Given the description of an element on the screen output the (x, y) to click on. 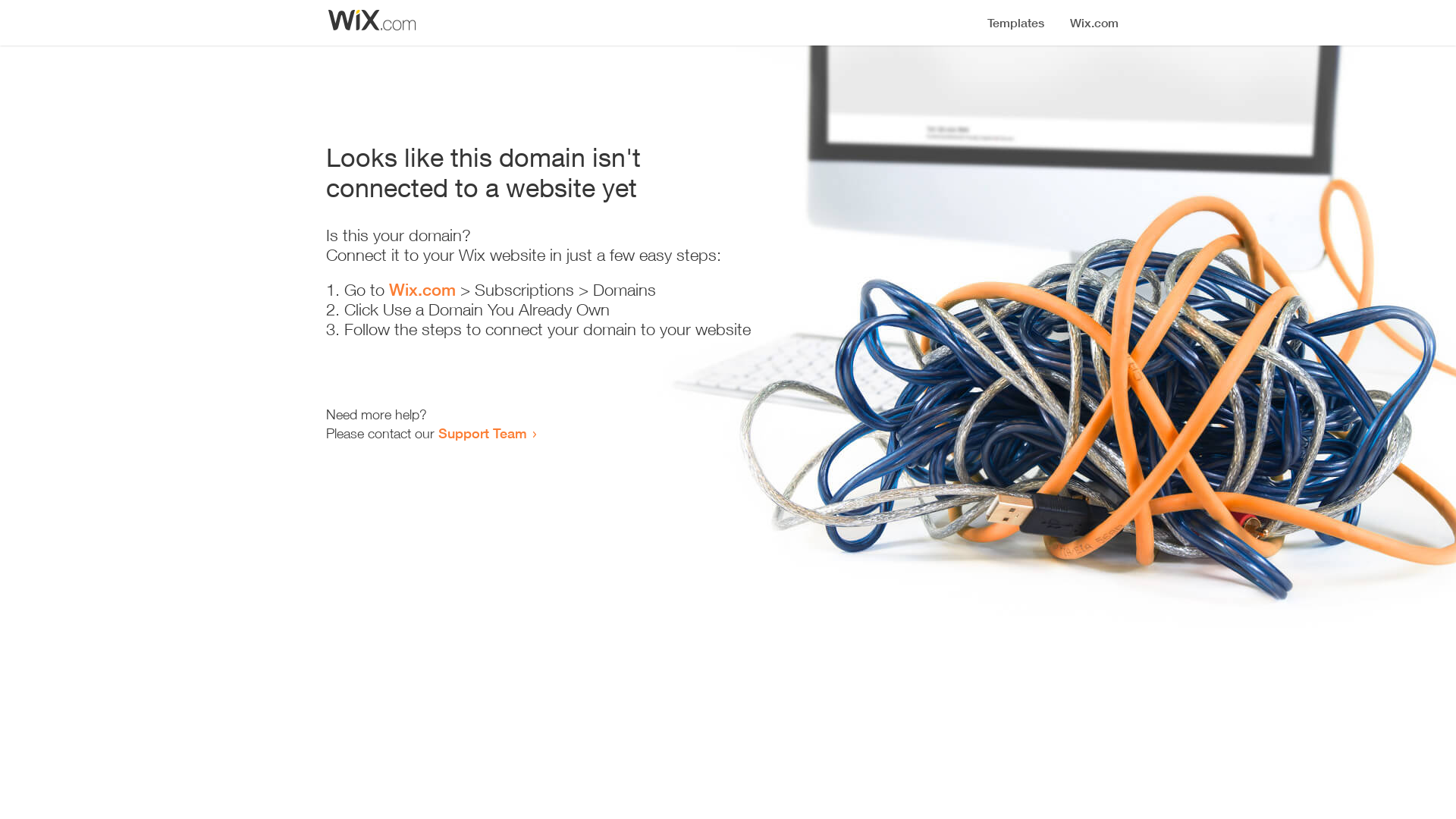
Support Team Element type: text (482, 432)
Wix.com Element type: text (422, 289)
